Given the description of an element on the screen output the (x, y) to click on. 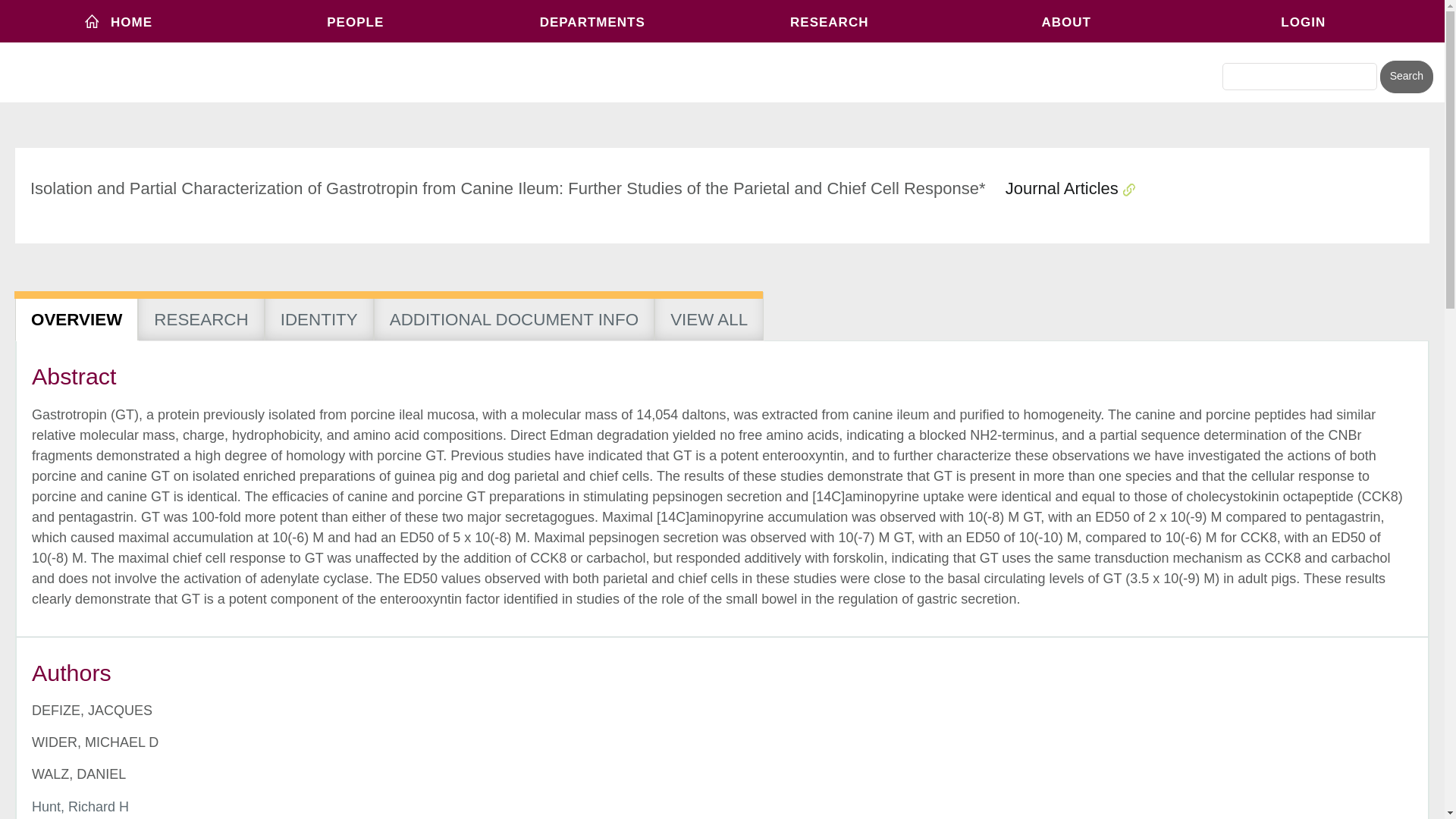
DEPARTMENTS (592, 21)
People menu item (355, 21)
Research menu item (829, 21)
LOGIN (1303, 21)
RESEARCH (829, 21)
ABOUT (1066, 21)
HOME (118, 21)
Home menu item (118, 21)
Hunt, Richard H (80, 806)
Search (1406, 76)
PEOPLE (355, 21)
Search (1406, 76)
About menu item (1066, 21)
author name (80, 806)
Departments menu item (592, 21)
